Given the description of an element on the screen output the (x, y) to click on. 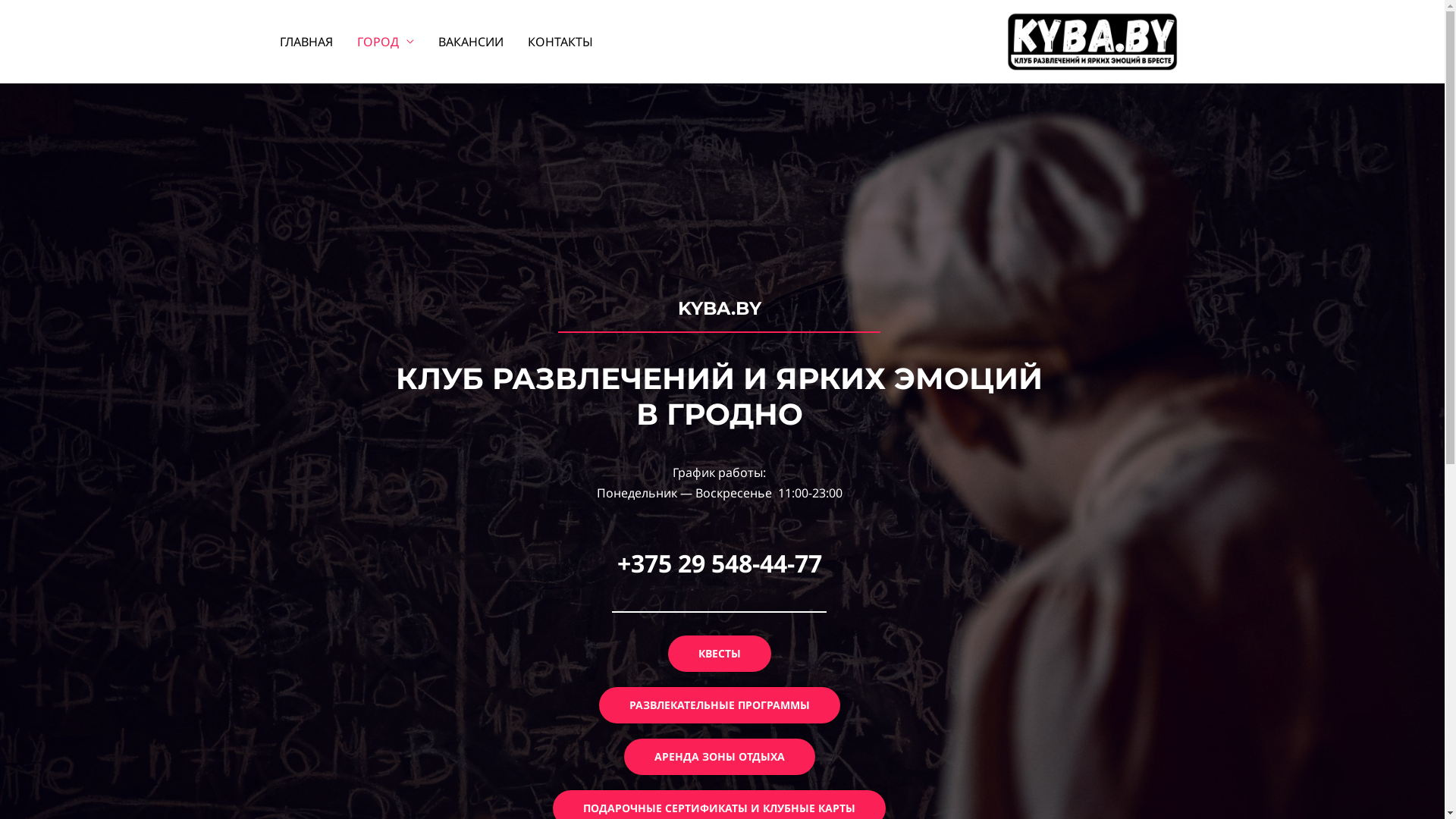
+375 29 548-44-77 Element type: text (719, 563)
